Given the description of an element on the screen output the (x, y) to click on. 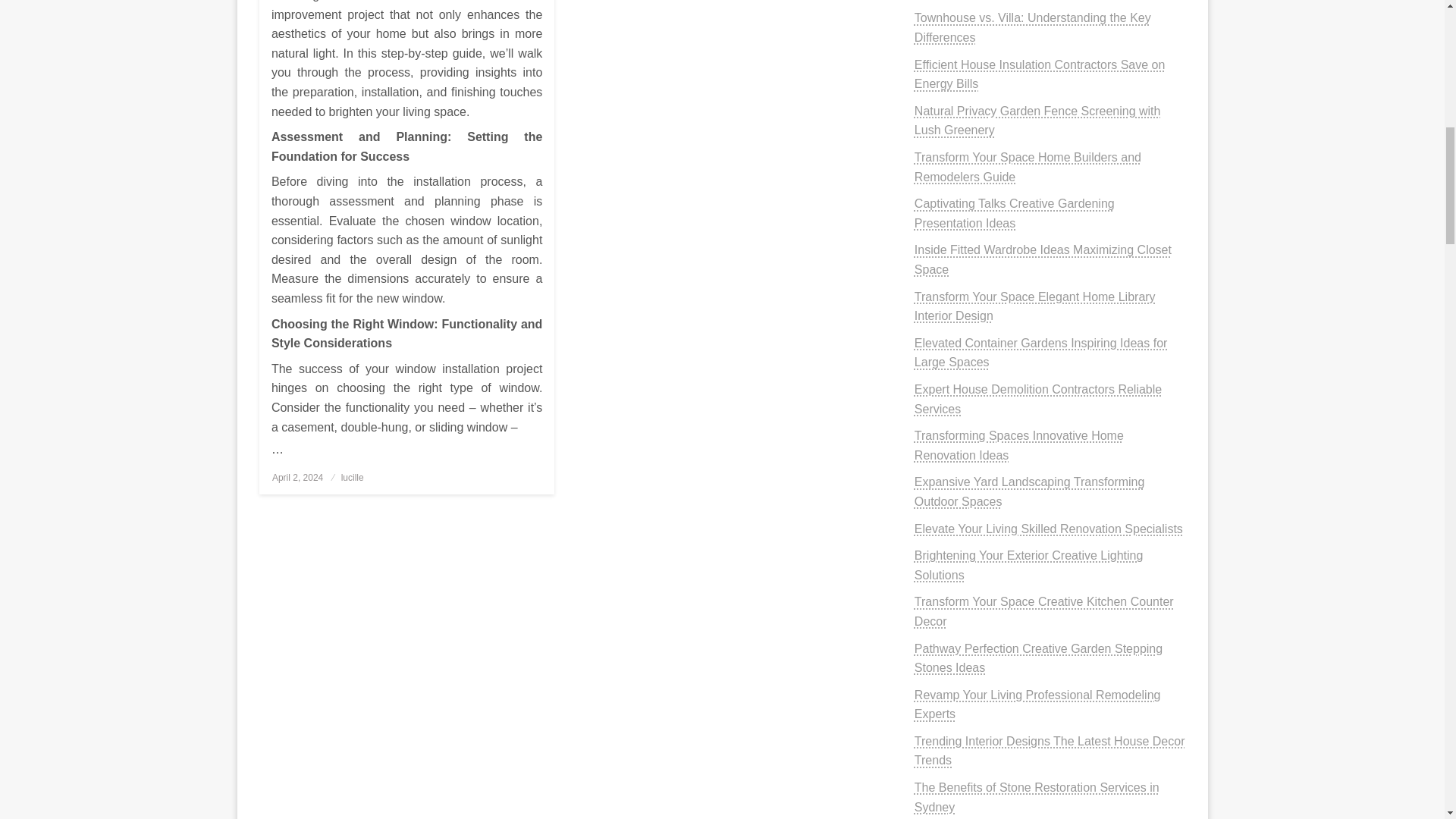
April 2, 2024 (297, 477)
lucille (352, 477)
lucille (352, 477)
